Given the description of an element on the screen output the (x, y) to click on. 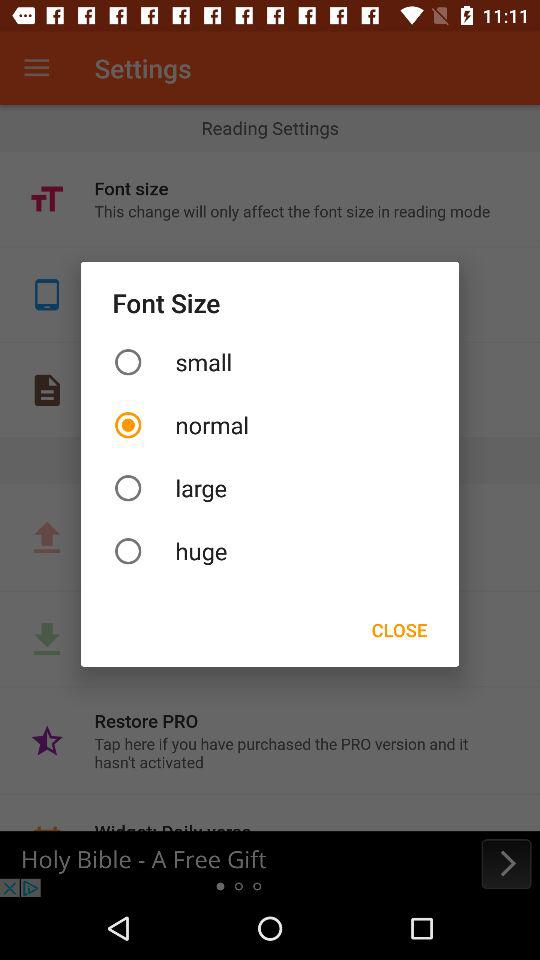
select normal (270, 424)
